Given the description of an element on the screen output the (x, y) to click on. 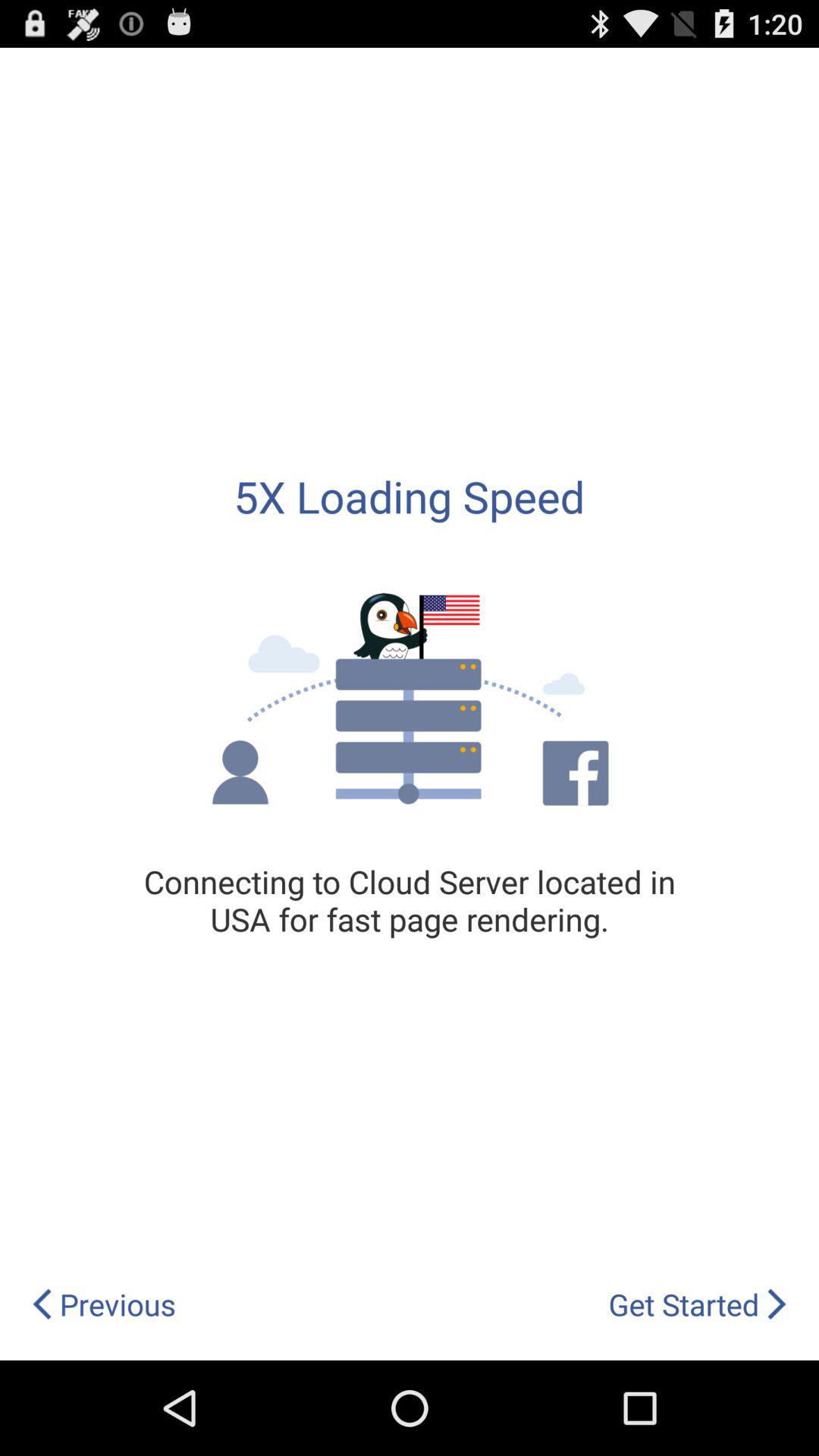
tap the item at the bottom left corner (103, 1304)
